Given the description of an element on the screen output the (x, y) to click on. 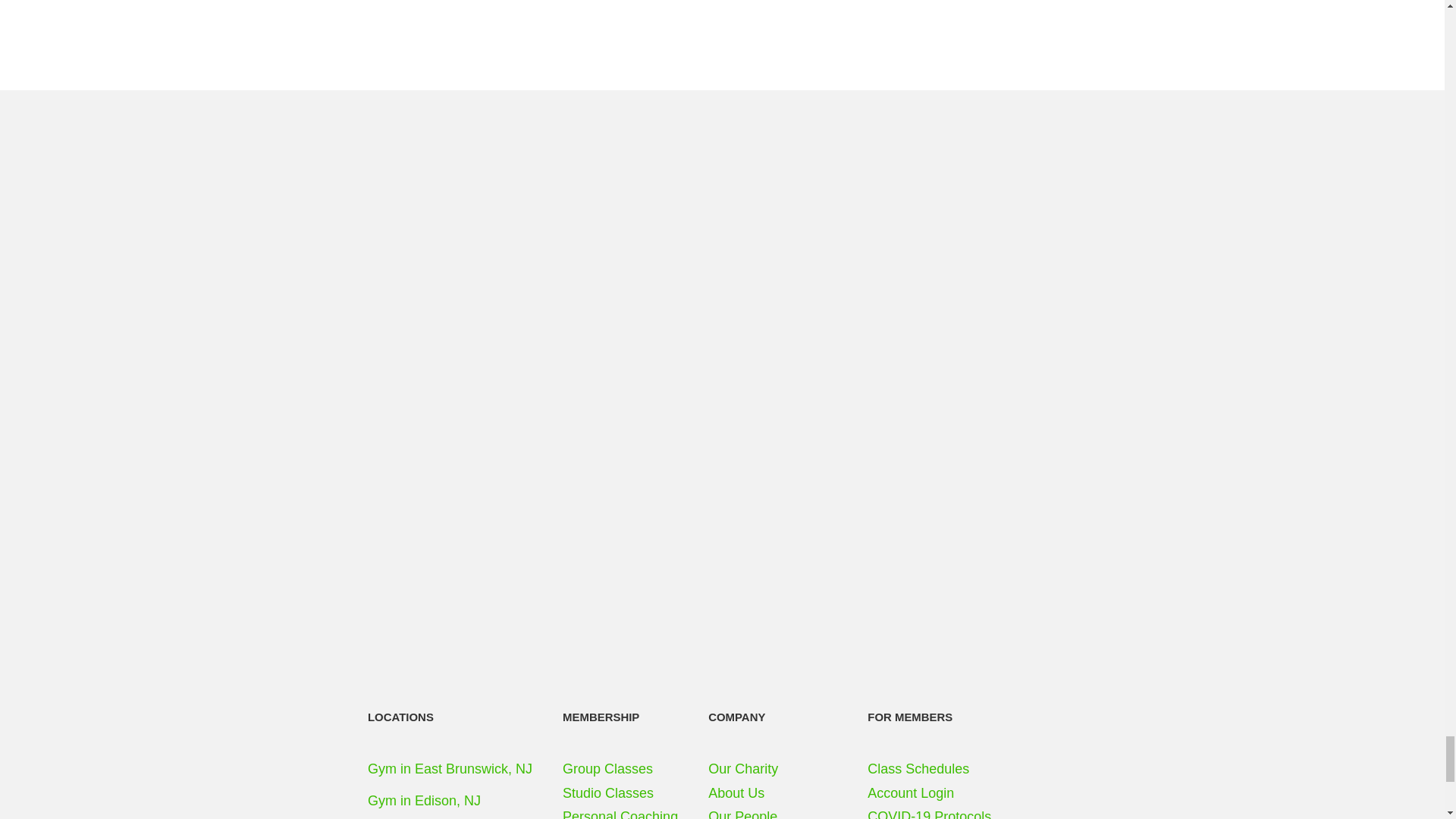
Gym in East Brunswick, NJ (450, 768)
Personal Coaching (620, 812)
Group Classes (620, 769)
Gym in Edison, NJ (424, 800)
Studio Classes (620, 793)
